Given the description of an element on the screen output the (x, y) to click on. 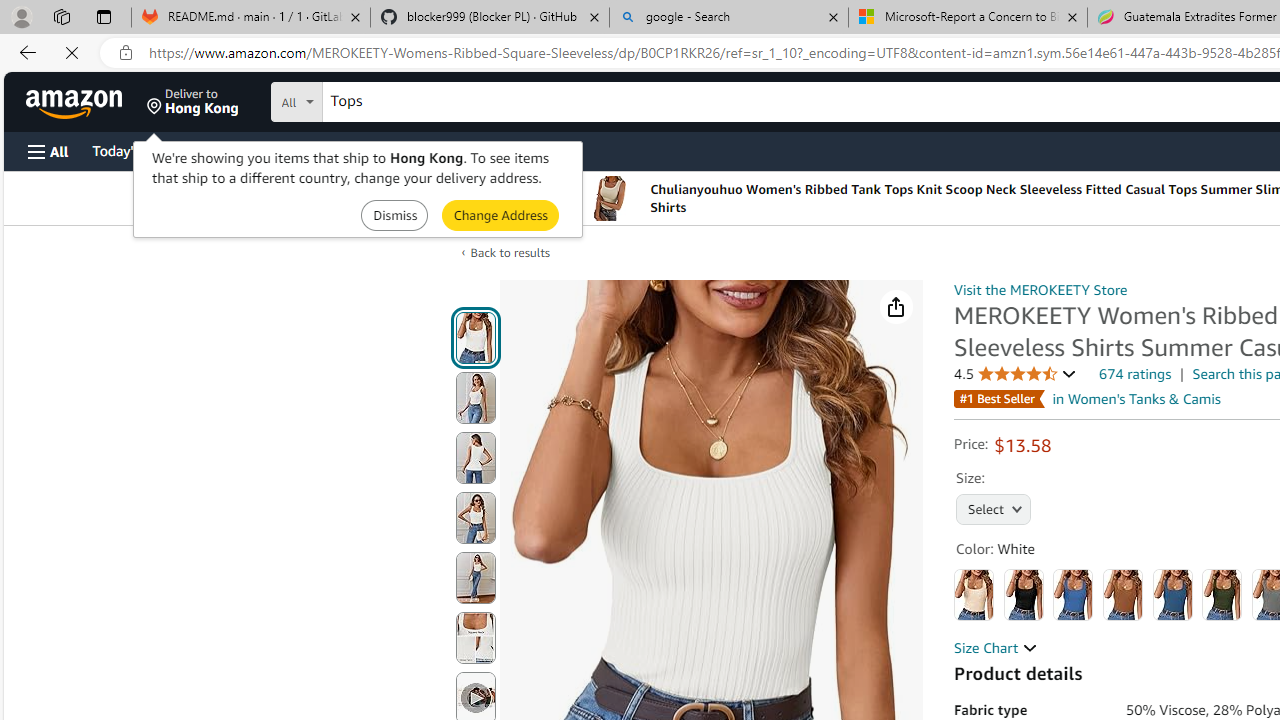
674 ratings (1135, 374)
AutomationID: native_dropdown_selected_size_name (993, 507)
Dusty Blue (1172, 594)
Green (1222, 594)
Back to results (509, 252)
Deliver to Hong Kong (193, 101)
Black (1023, 594)
Share (896, 307)
4.5 4.5 out of 5 stars (1015, 373)
Search in (371, 99)
Caramel (1123, 594)
